Given the description of an element on the screen output the (x, y) to click on. 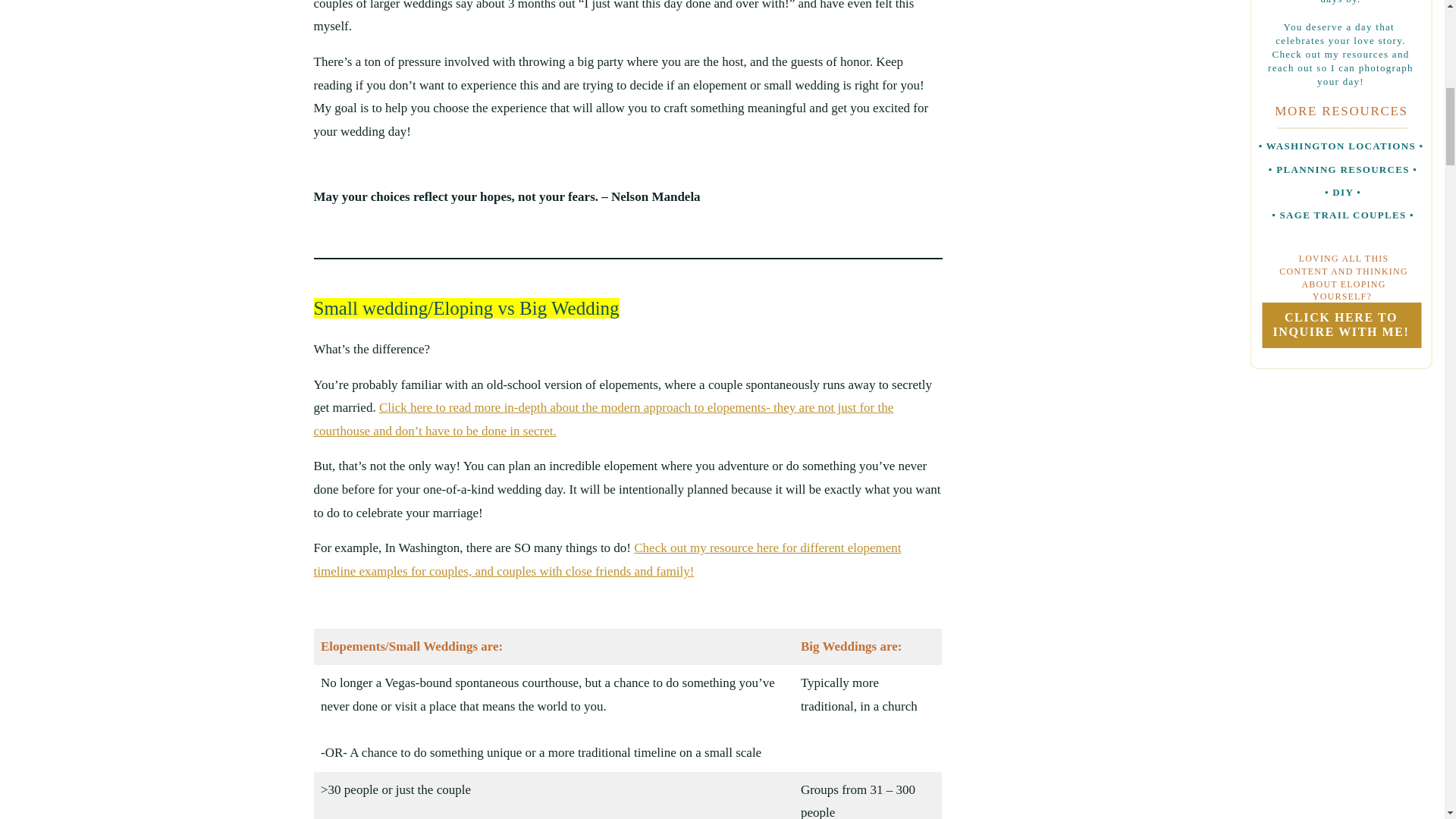
CLICK HERE TO INQUIRE WITH ME! (1340, 324)
